Given the description of an element on the screen output the (x, y) to click on. 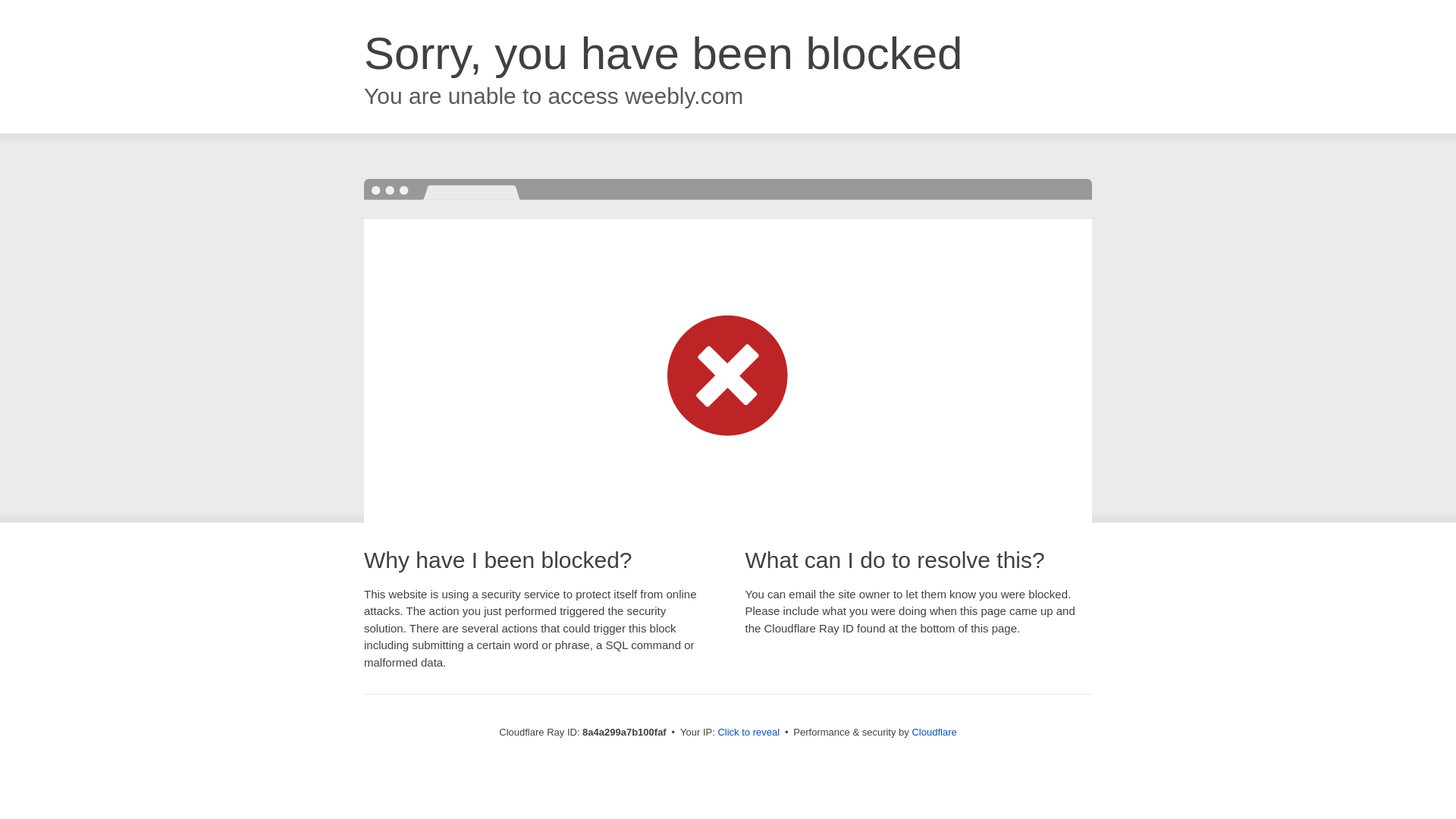
Click to reveal (747, 732)
Cloudflare (933, 731)
